Given the description of an element on the screen output the (x, y) to click on. 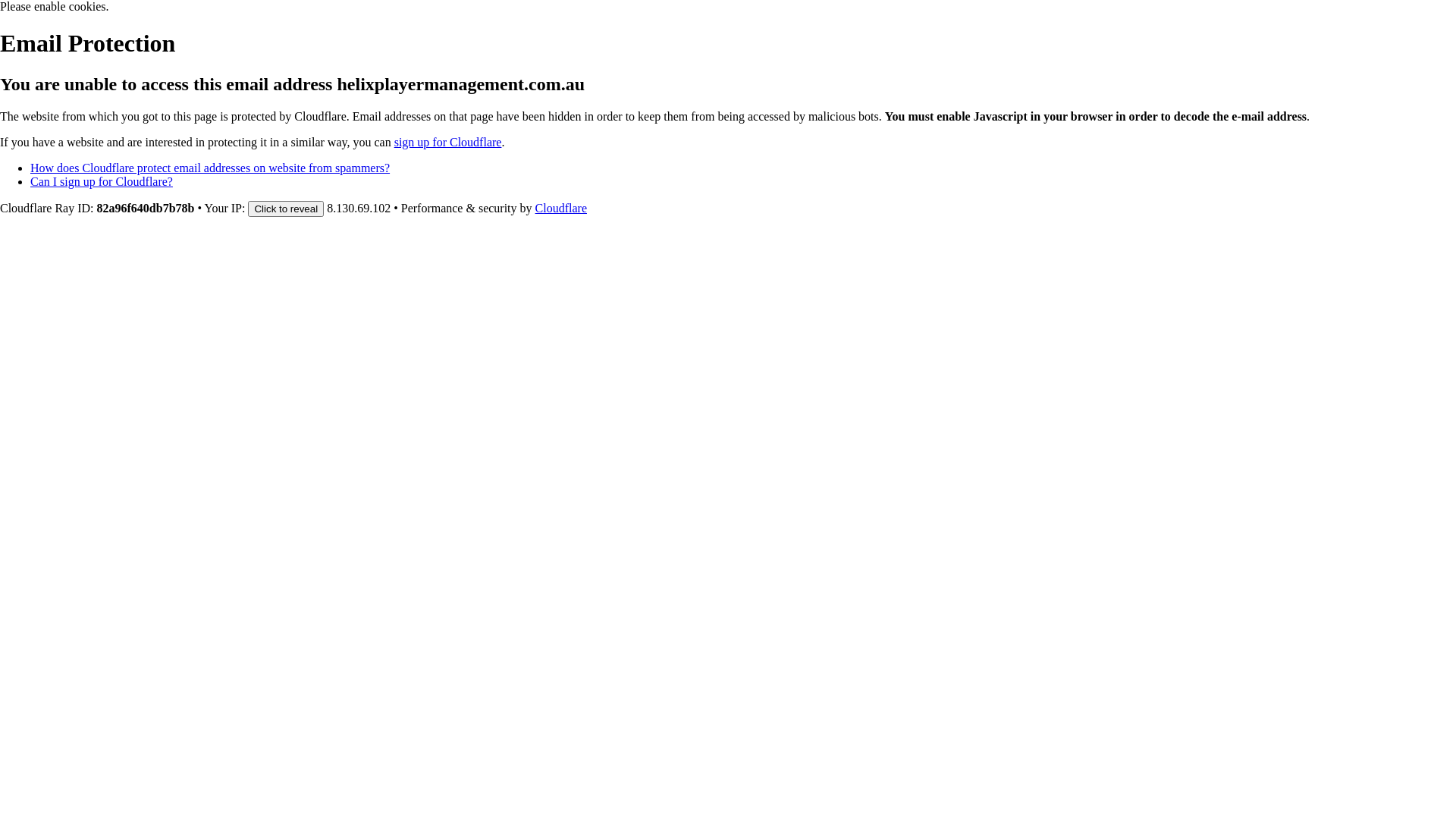
sign up for Cloudflare Element type: text (448, 141)
Can I sign up for Cloudflare? Element type: text (101, 181)
Click to reveal Element type: text (285, 208)
Cloudflare Element type: text (560, 207)
